Given the description of an element on the screen output the (x, y) to click on. 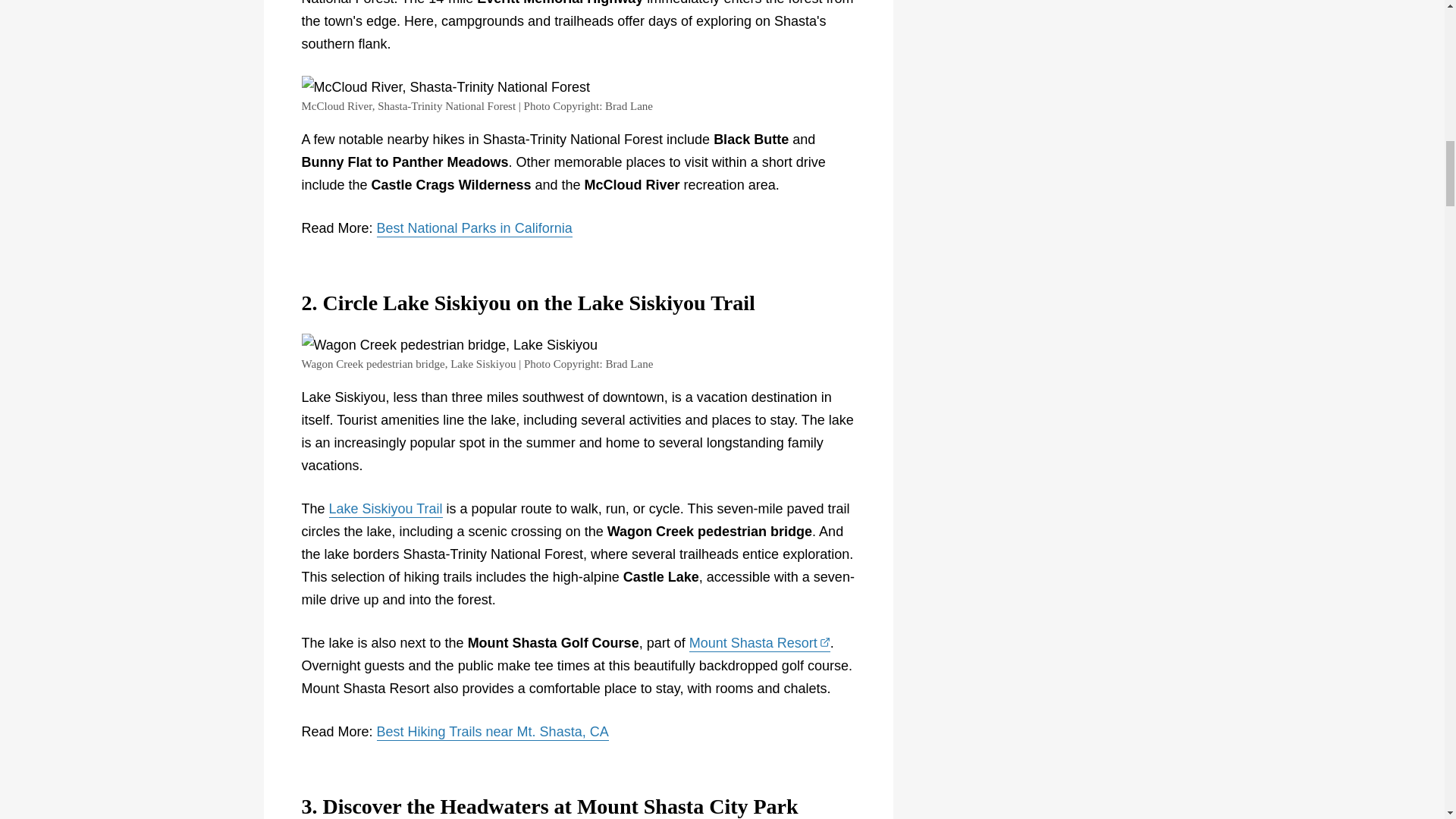
Mount Shasta Resort (758, 643)
Lake Siskiyou Trail (385, 509)
Best Hiking Trails near Mt. Shasta, CA (492, 732)
Best National Parks in California (474, 228)
